Given the description of an element on the screen output the (x, y) to click on. 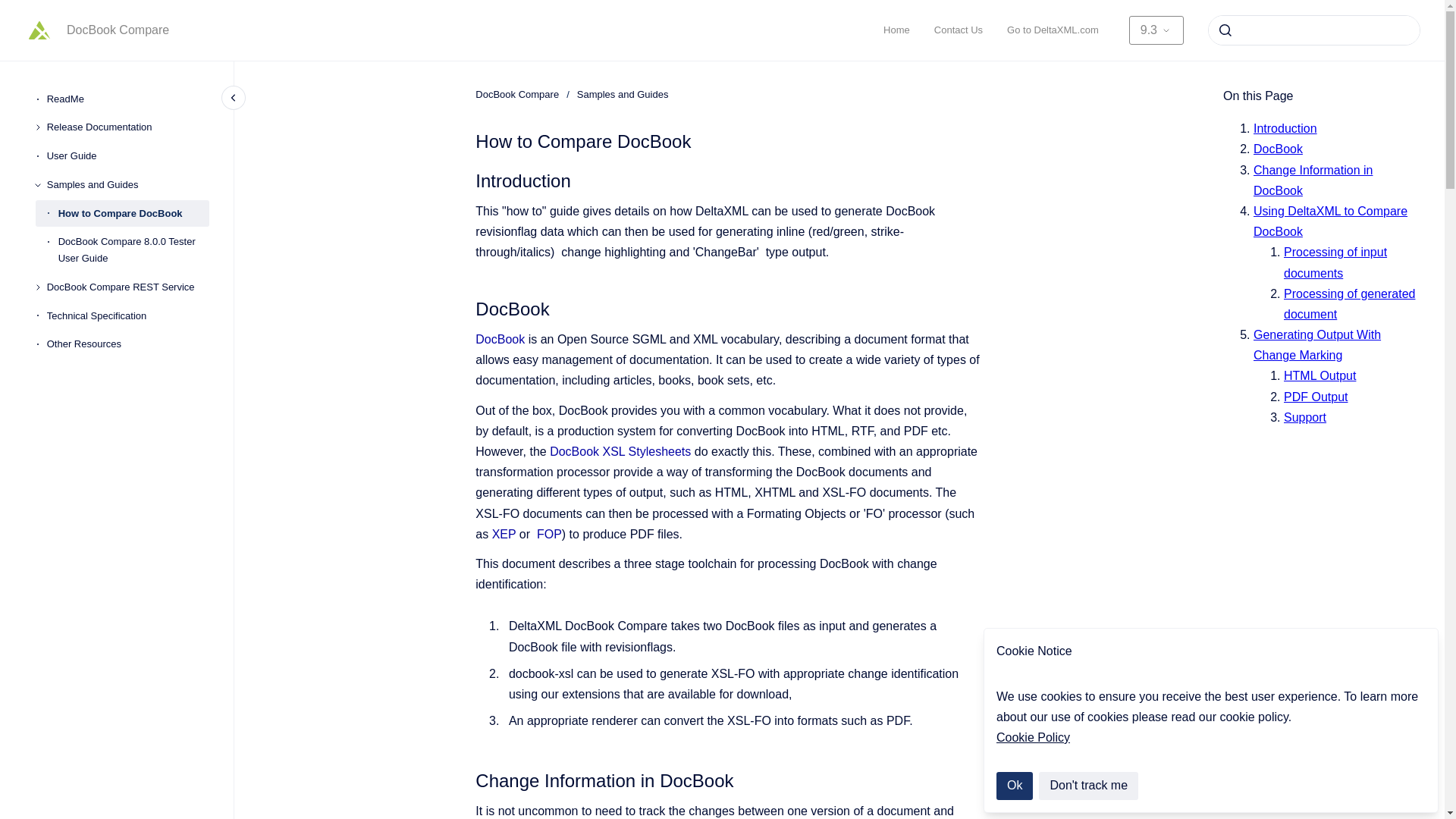
DocBook XSL Stylesheets (620, 451)
FOP (549, 533)
Samples and Guides (127, 185)
Home (895, 29)
Samples and Guides (622, 94)
DocBook Compare 8.0.0 Tester User Guide (133, 249)
9.3 (1156, 30)
Release Documentation (127, 127)
How to Compare DocBook (133, 213)
Contact Us (957, 29)
